Given the description of an element on the screen output the (x, y) to click on. 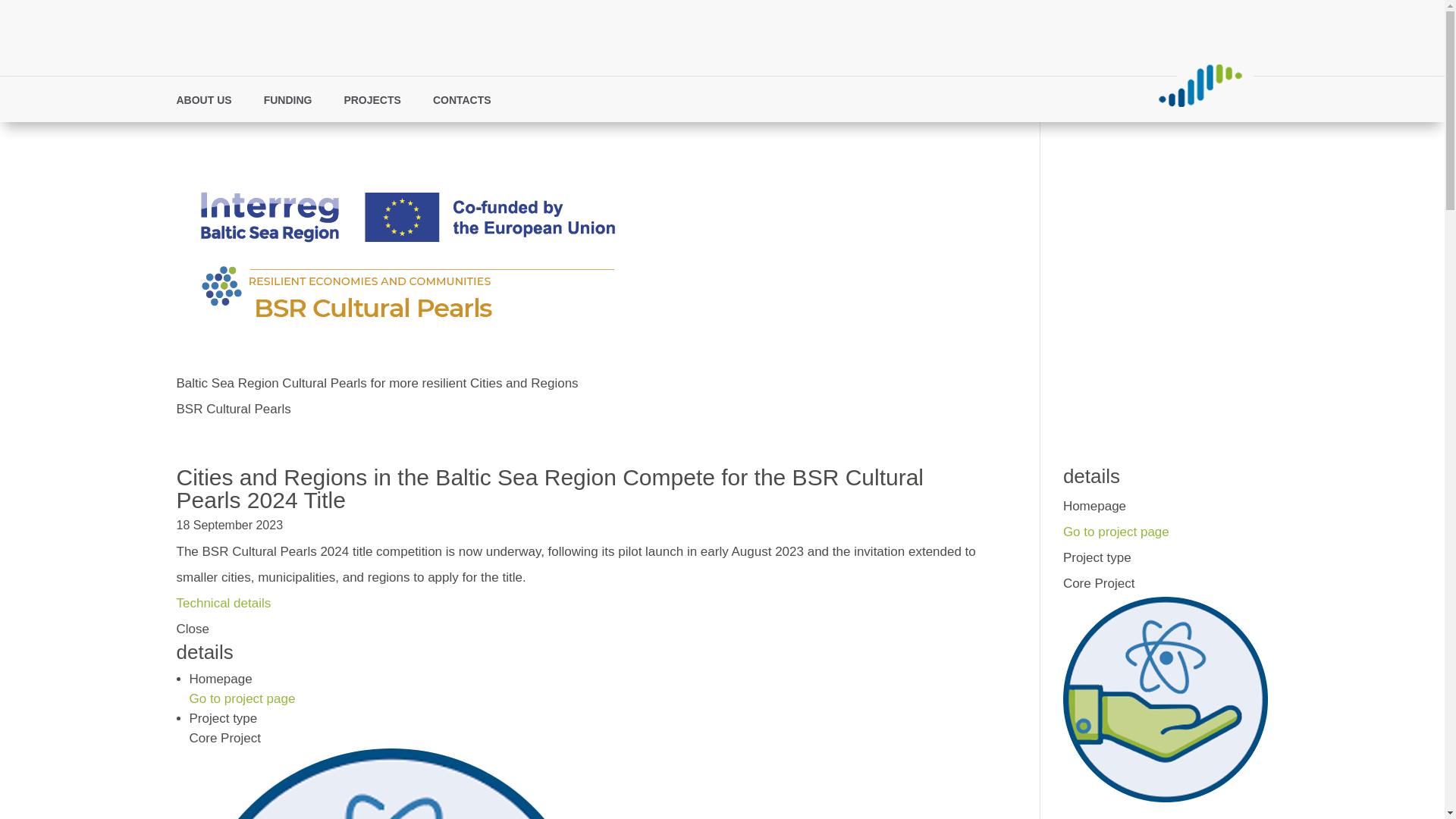
ABOUT US (211, 103)
FUNDING (295, 103)
PROJECTS (378, 103)
VideoBolt-klein (1199, 85)
CONTACTS (469, 103)
Log in (930, 98)
Find partners (864, 98)
